Given the description of an element on the screen output the (x, y) to click on. 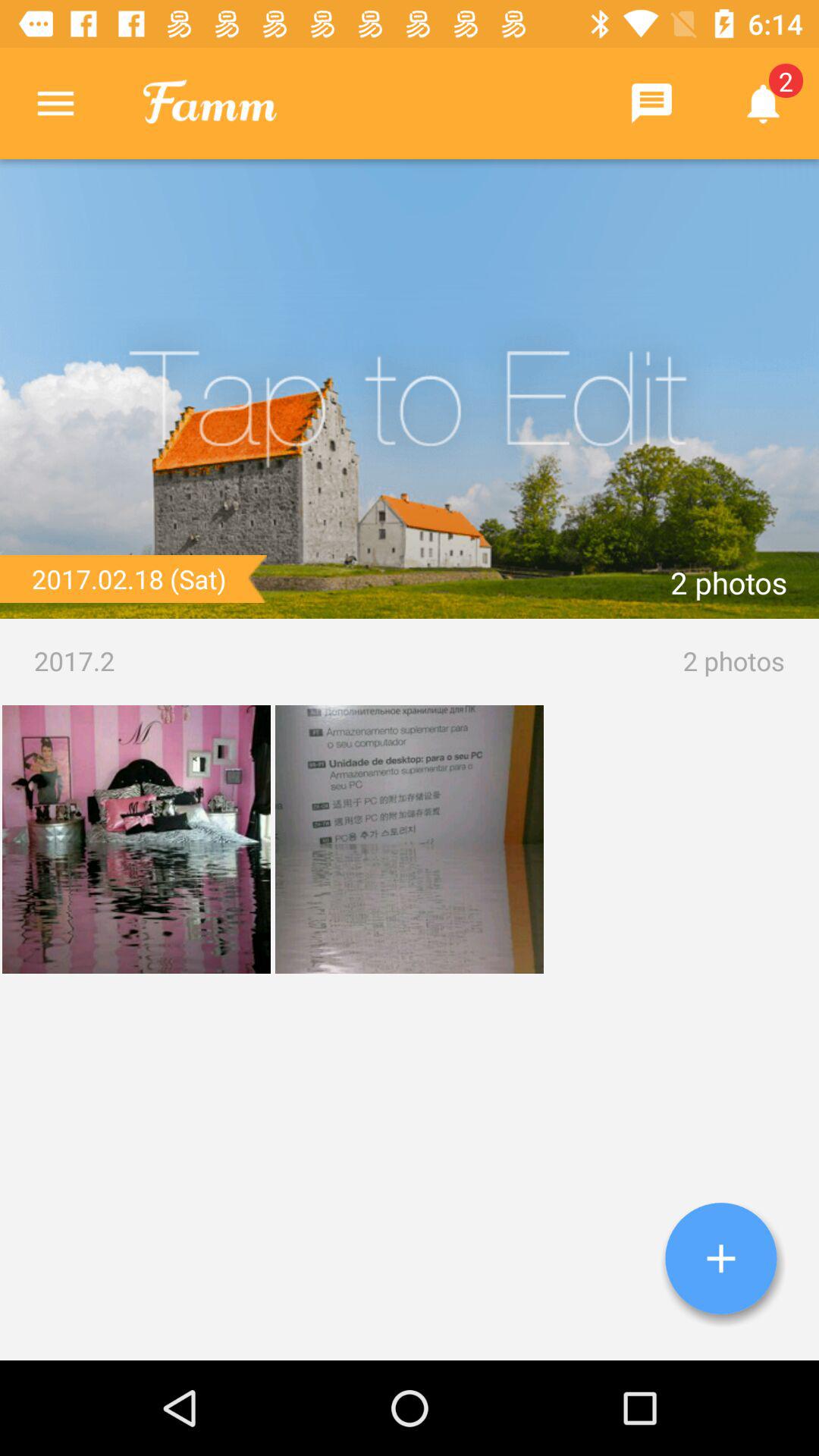
edit picture (409, 388)
